Given the description of an element on the screen output the (x, y) to click on. 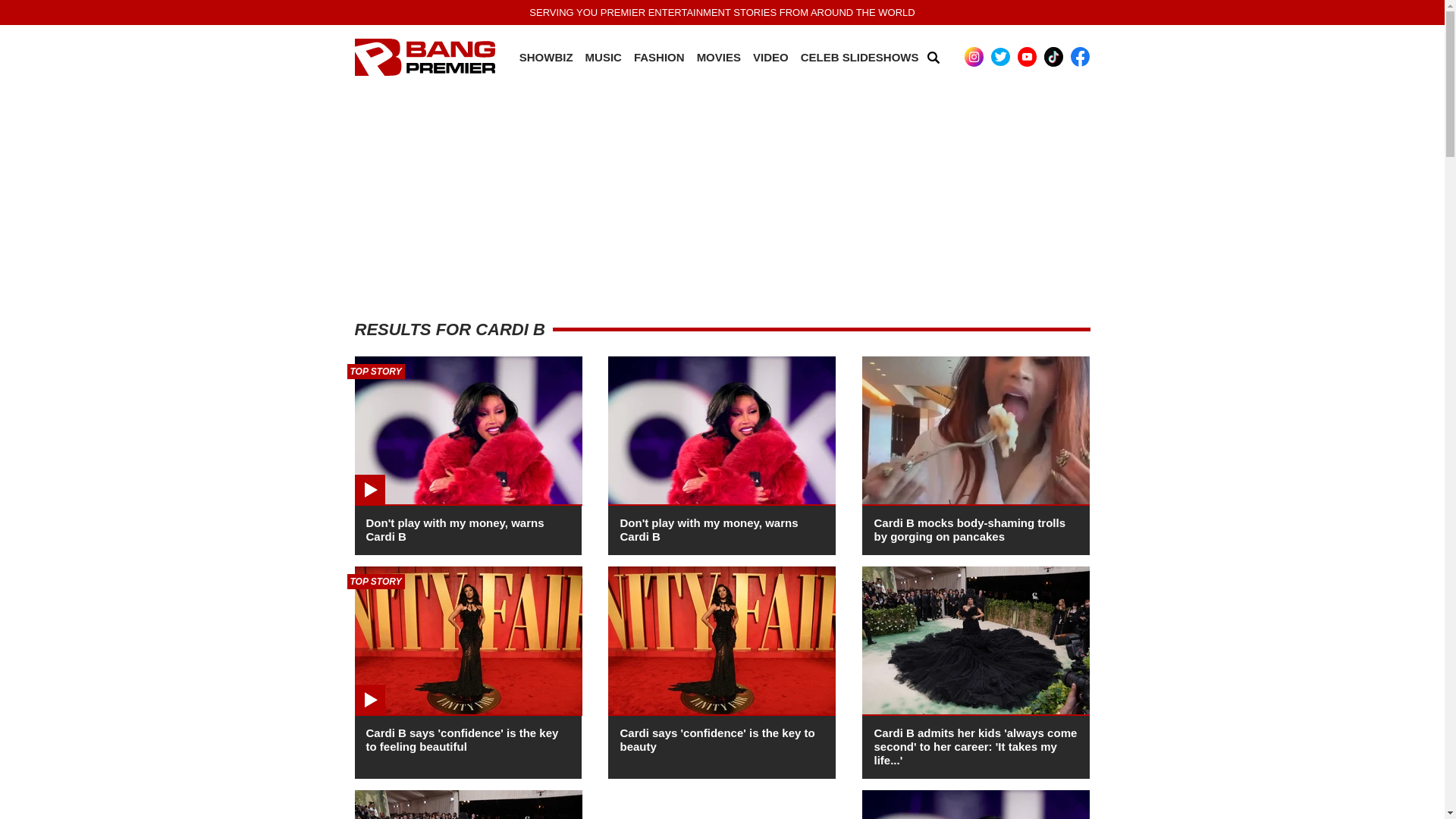
Don't play with my money, warns Cardi B (454, 529)
Don't play with my money, warns Cardi B (708, 529)
SHOWBIZ (546, 57)
Cardi B mocks body-shaming trolls by gorging on pancakes (969, 529)
Cardi says 'confidence' is the key to beauty (716, 739)
Don't play with my money, warns Cardi B (454, 529)
Cardi B says 'confidence' is the key to feeling beautiful (461, 739)
Cardi B says 'confidence' is the key to feeling beautiful (461, 739)
BANG Premier on YouTube (1026, 56)
BANG Premier on Twitter (1000, 56)
MOVIES (719, 57)
MUSIC (603, 57)
BANG Premier on Facebook (1079, 56)
Cardi says 'confidence' is the key to beauty (716, 739)
